Given the description of an element on the screen output the (x, y) to click on. 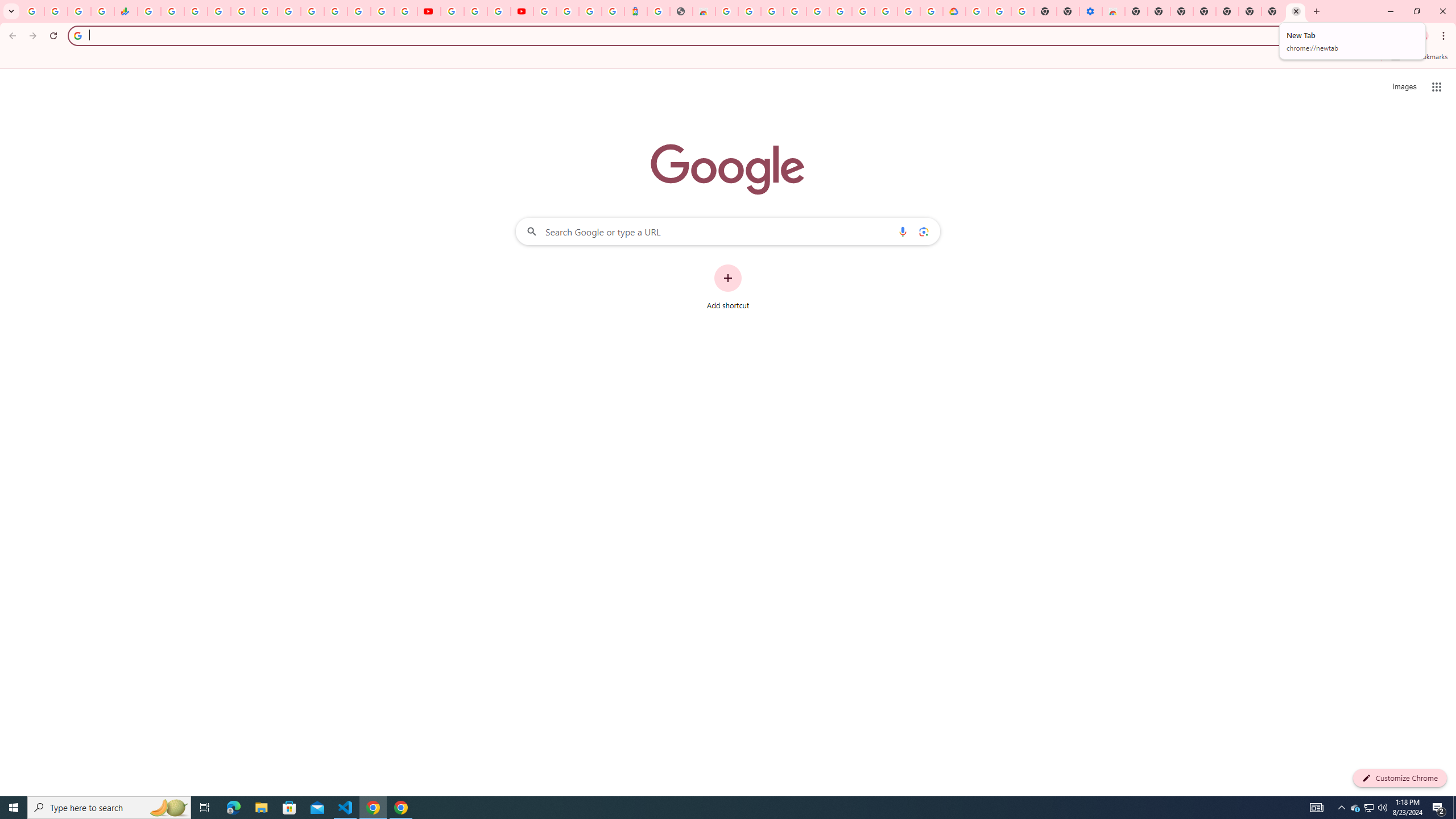
Google Workspace Admin Community (32, 11)
Create your Google Account (909, 11)
Sign in - Google Accounts (545, 11)
Bookmarks (728, 58)
Turn cookies on or off - Computer - Google Account Help (1022, 11)
Sign in - Google Accounts (381, 11)
